Given the description of an element on the screen output the (x, y) to click on. 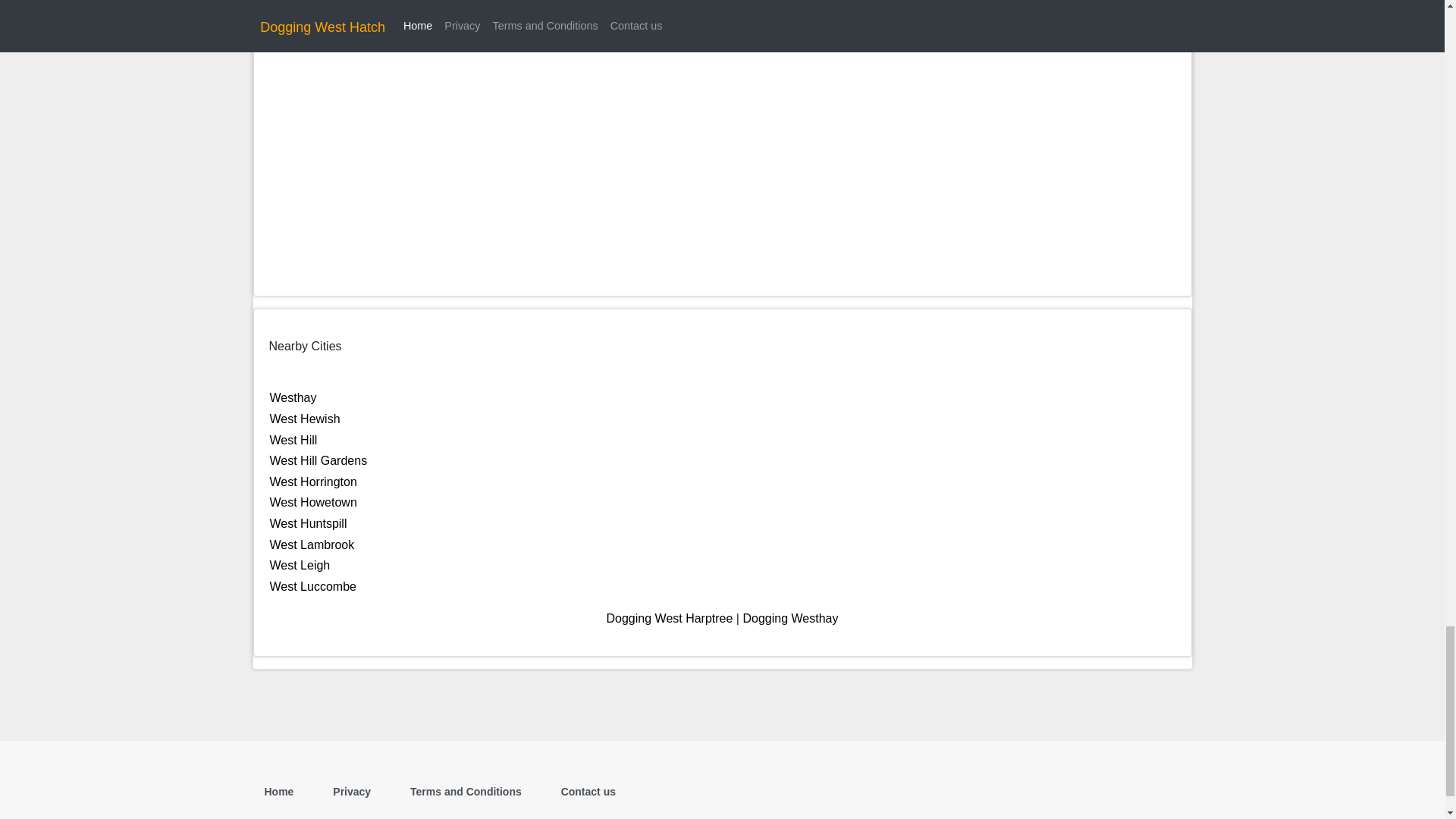
West Hewish (304, 418)
West Howetown (312, 502)
West Luccombe (312, 585)
West Leigh (299, 564)
West Huntspill (308, 522)
West Lambrook (312, 544)
West Hill Gardens (318, 460)
Westhay (293, 397)
Dogging West Harptree (670, 617)
West Hill (293, 440)
West Horrington (312, 481)
Dogging Westhay (790, 617)
